Given the description of an element on the screen output the (x, y) to click on. 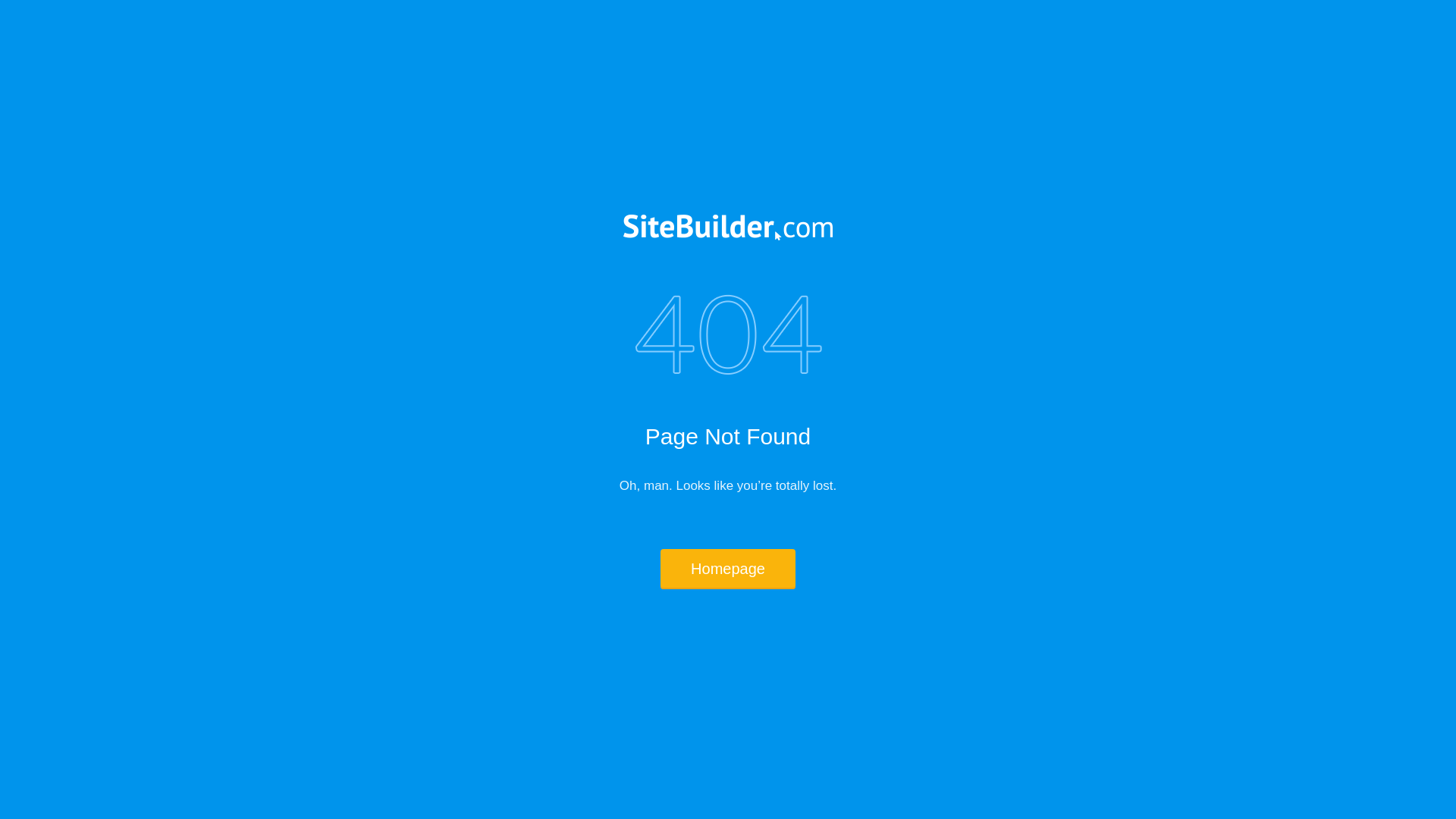
Homepage Element type: text (727, 569)
